Given the description of an element on the screen output the (x, y) to click on. 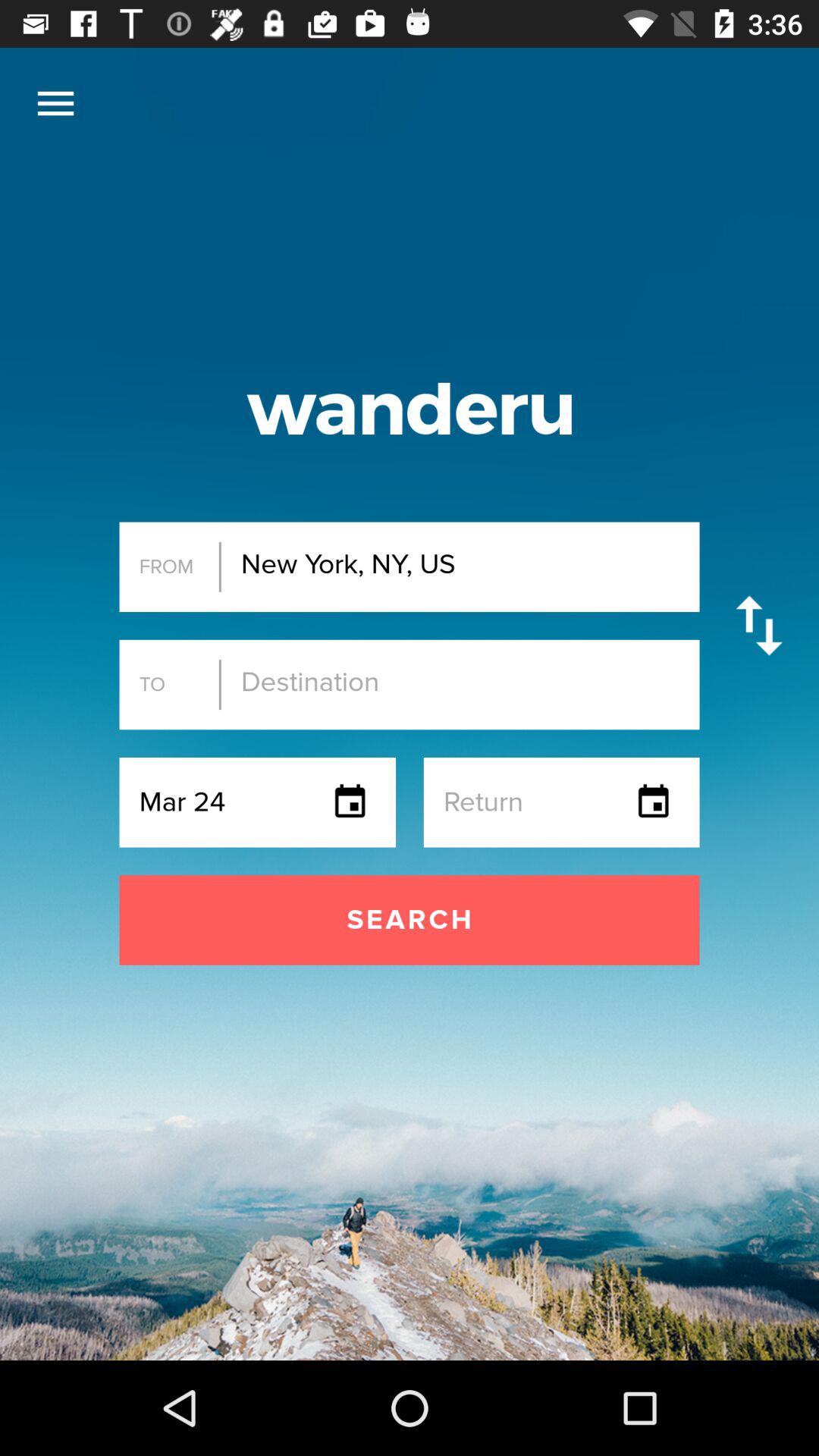
see menu (55, 103)
